Given the description of an element on the screen output the (x, y) to click on. 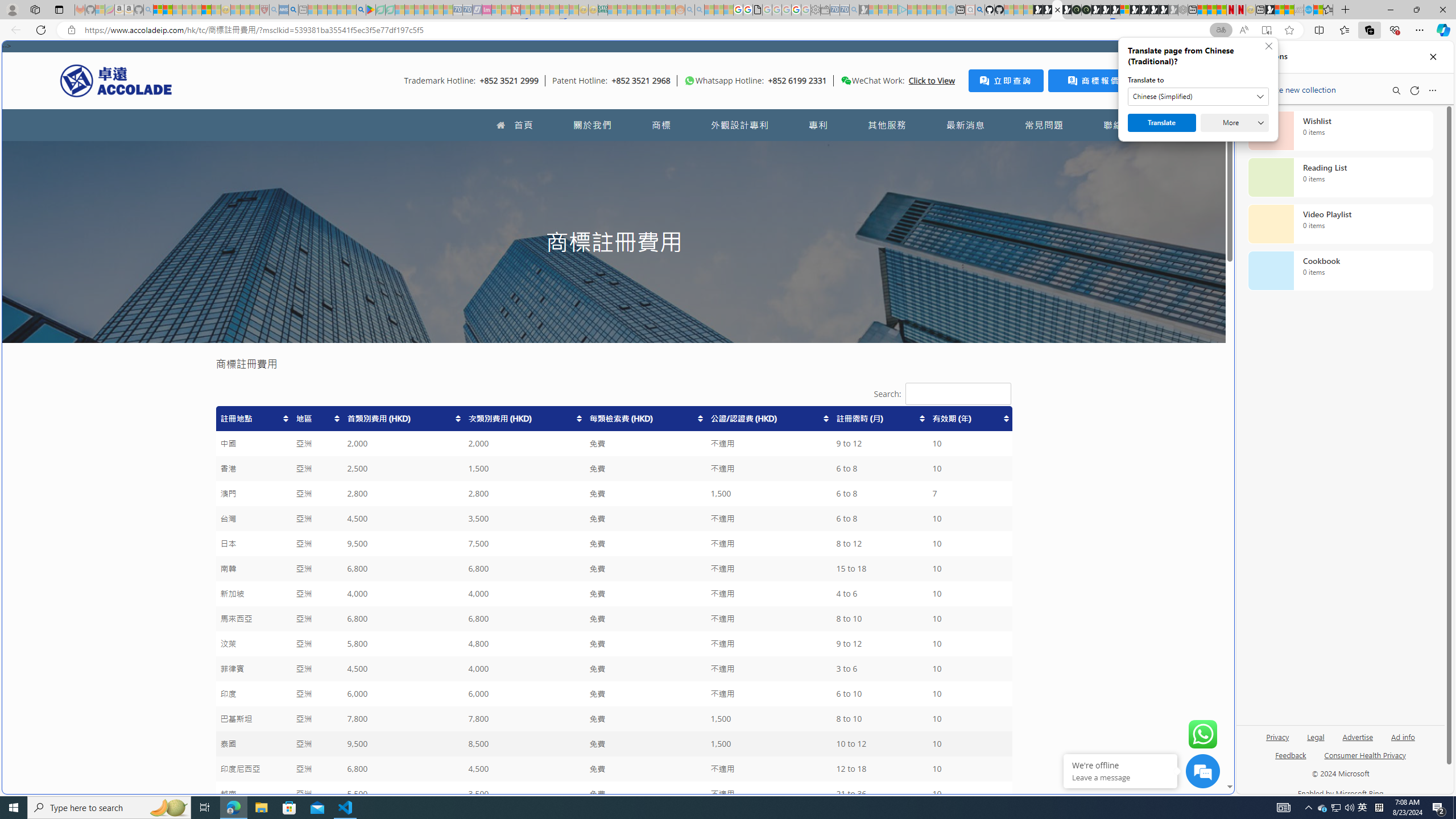
Class: row-1 odd (613, 418)
Pets - MSN - Sleeping (340, 9)
More options menu (1432, 90)
21 to 36 (879, 793)
Settings - Sleeping (815, 9)
Play Zoo Boom in your browser | Games from Microsoft Start (1047, 9)
Advertise (1357, 736)
